Given the description of an element on the screen output the (x, y) to click on. 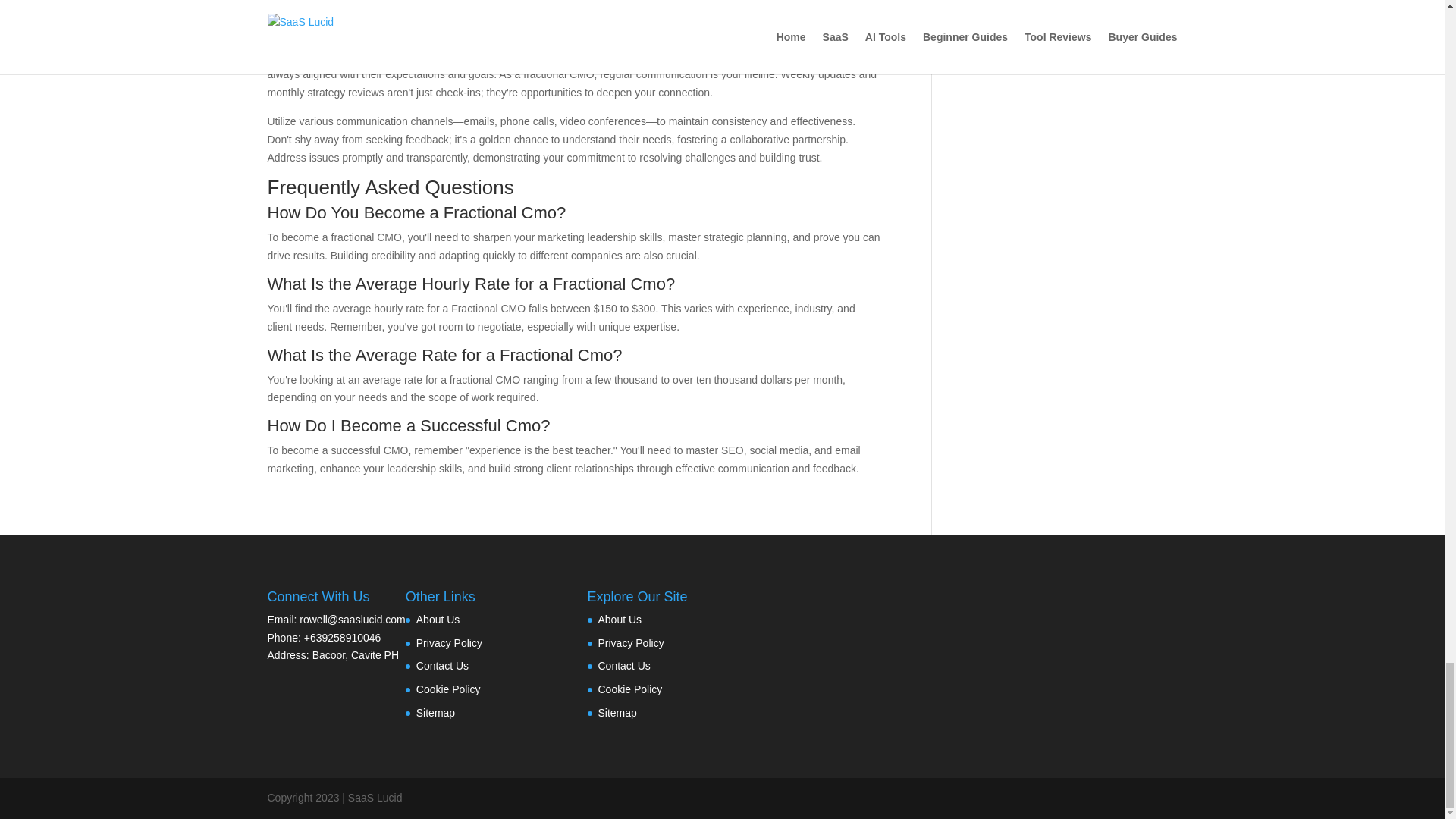
Sitemap (435, 712)
Privacy Policy (448, 643)
Contact Us (442, 665)
Privacy Policy (629, 643)
Sitemap (616, 712)
Contact Us (622, 665)
Cookie Policy (448, 689)
About Us (619, 619)
About Us (438, 619)
Cookie Policy (629, 689)
